Given the description of an element on the screen output the (x, y) to click on. 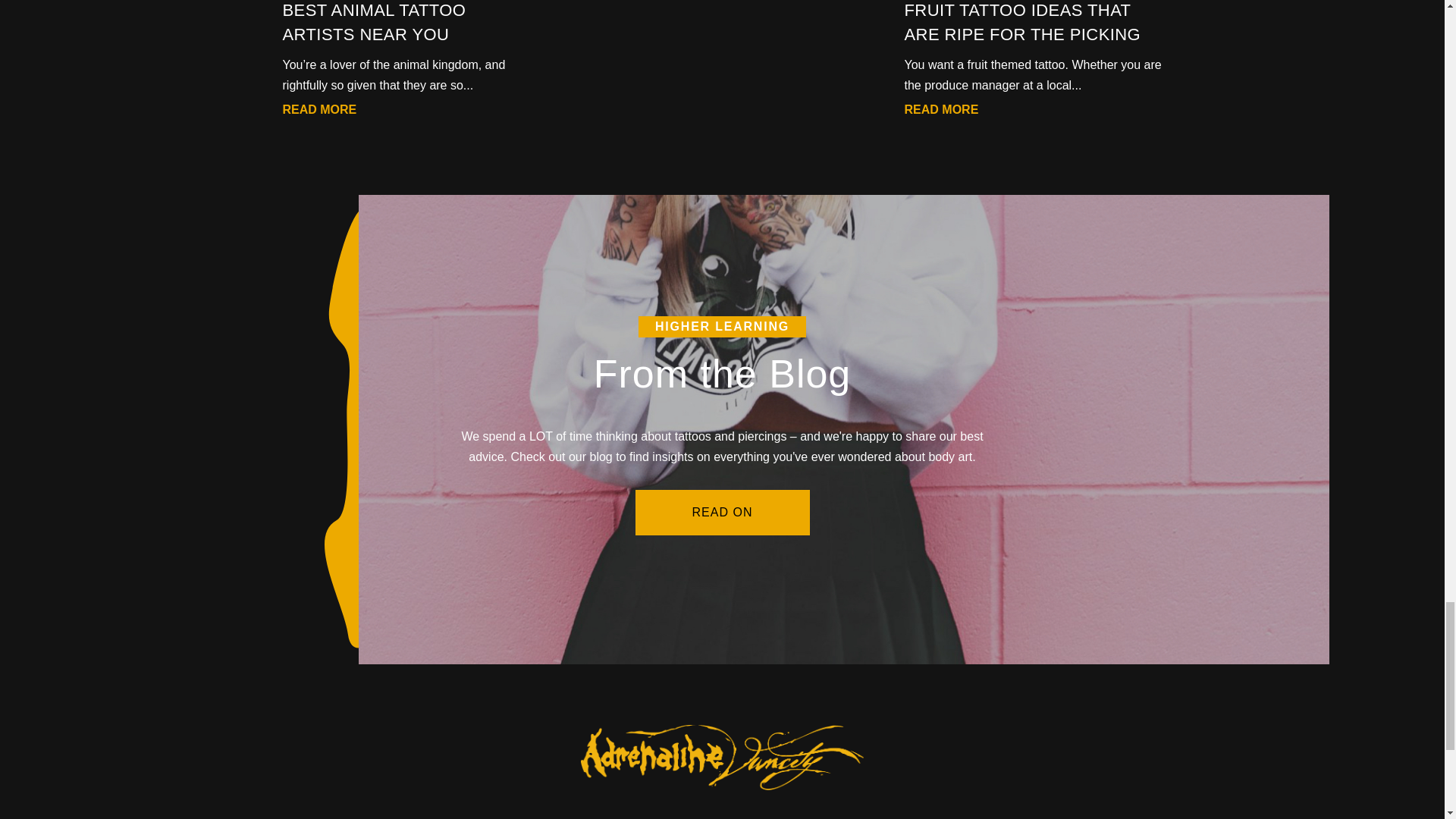
READ MORE (941, 110)
BEST ANIMAL TATTOO ARTISTS NEAR YOU (373, 22)
Adrenaline Tattoo (721, 793)
READ MORE (319, 110)
Best Animal Tattoo Artists Near You (373, 22)
READ ON (721, 512)
FRUIT TATTOO IDEAS THAT ARE RIPE FOR THE PICKING (1022, 22)
Fruit Tattoo Ideas That Are Ripe for the Picking (1022, 22)
